Given the description of an element on the screen output the (x, y) to click on. 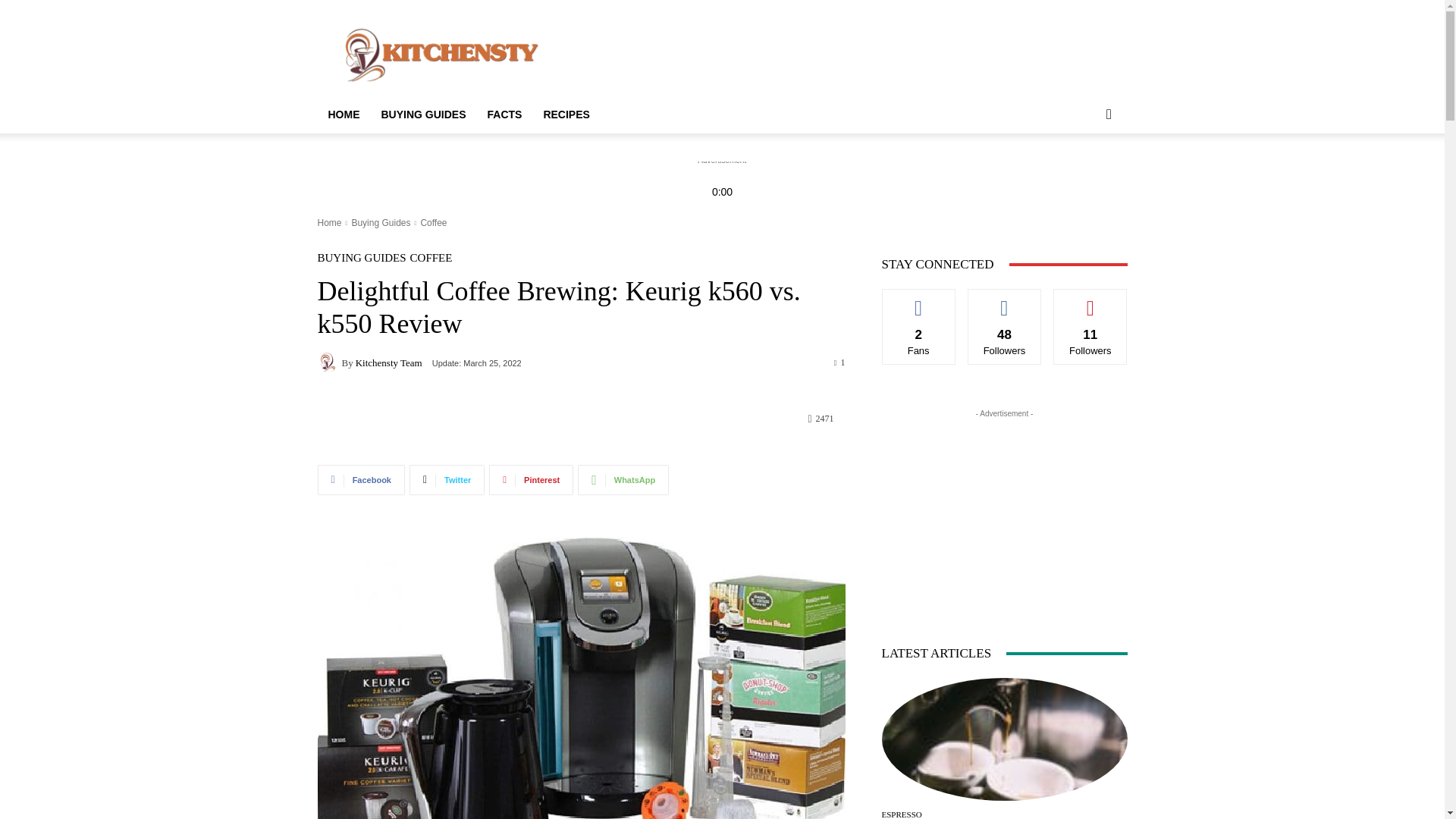
Advertisement (850, 80)
Coffee (433, 222)
WhatsApp (623, 480)
kitchensty.com (445, 55)
Home (328, 222)
Facebook (360, 480)
WhatsApp (623, 480)
RECIPES (565, 114)
HOME (343, 114)
Buying Guides (380, 222)
Search (1085, 174)
BUYING GUIDES (422, 114)
FACTS (504, 114)
